Given the description of an element on the screen output the (x, y) to click on. 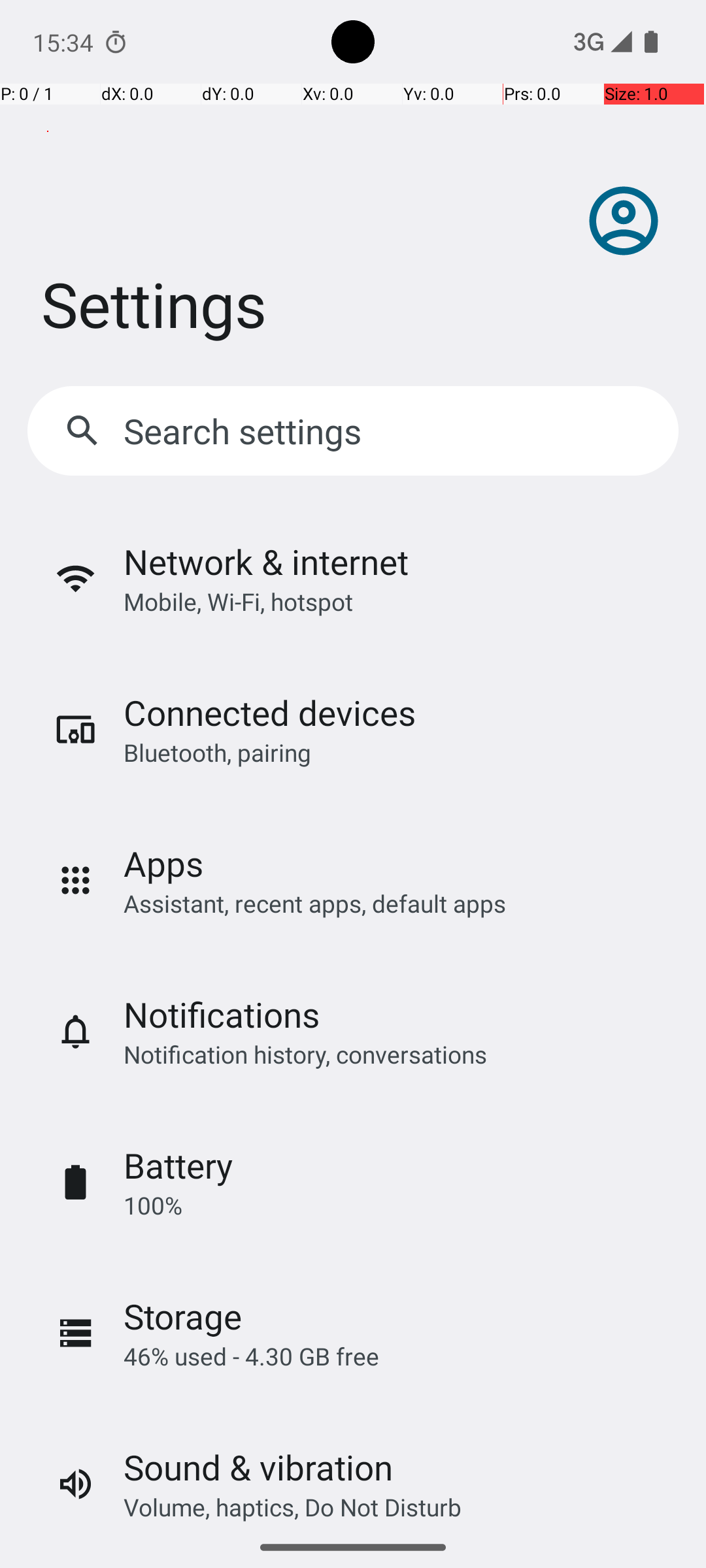
46% used - 4.30 GB free Element type: android.widget.TextView (251, 1355)
